Given the description of an element on the screen output the (x, y) to click on. 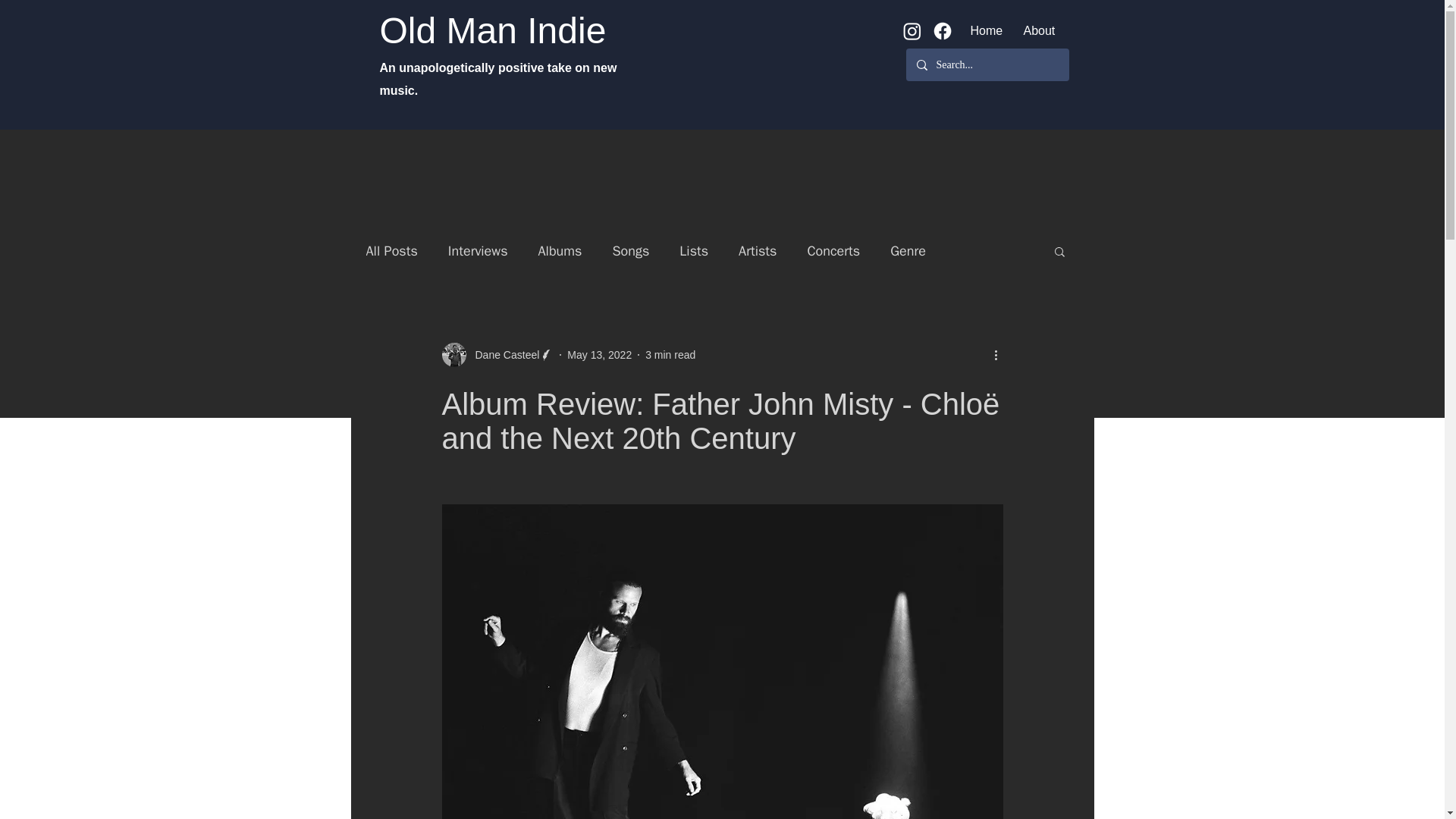
Lists (693, 250)
Interviews (478, 250)
About (1038, 30)
Old Man Indie (491, 30)
Home (984, 30)
Dane Casteel (497, 354)
Artists (757, 250)
Genre (907, 250)
Songs (630, 250)
All Posts (390, 250)
